Given the description of an element on the screen output the (x, y) to click on. 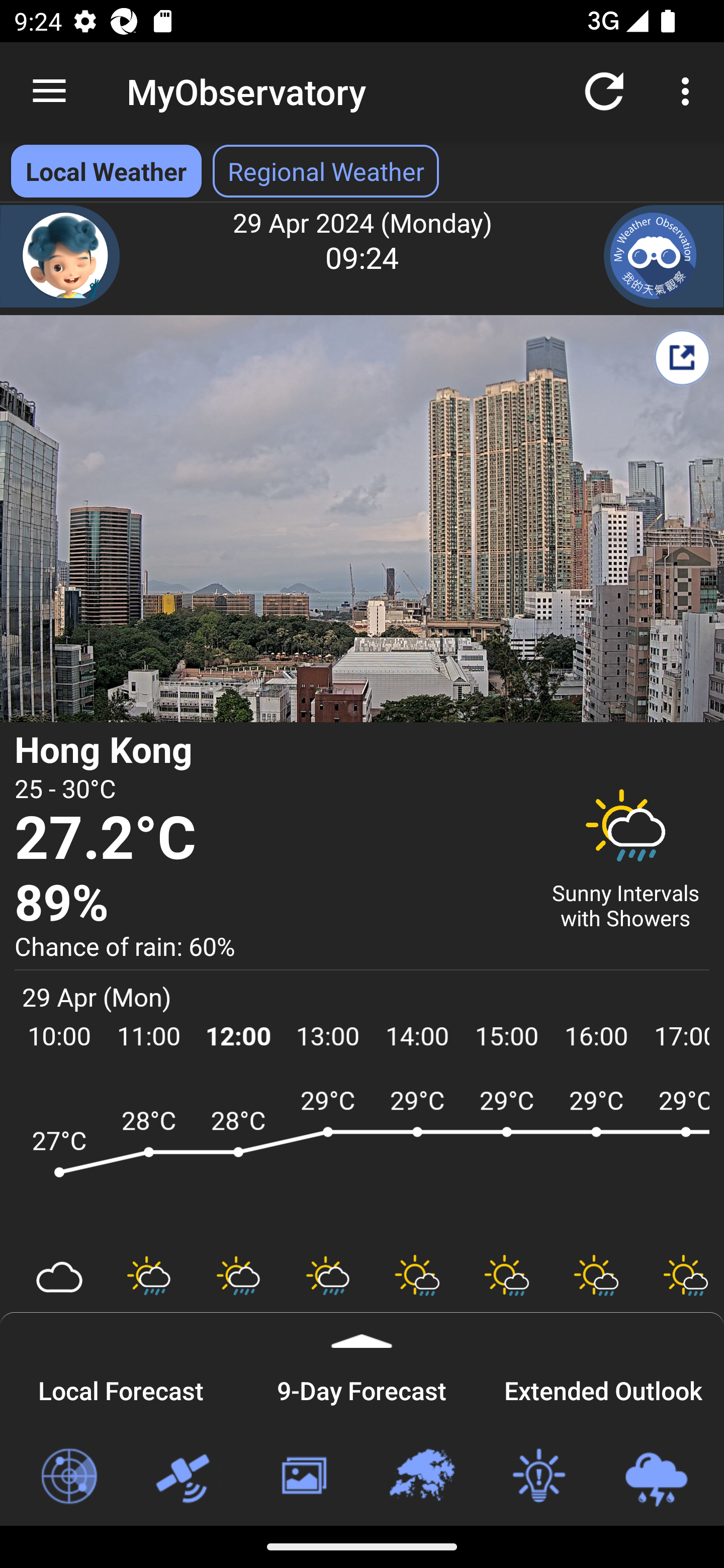
Navigate up (49, 91)
Refresh (604, 90)
More options (688, 90)
Local Weather Local Weather selected (105, 170)
Regional Weather Select Regional Weather (325, 170)
Chatbot (60, 256)
My Weather Observation (663, 256)
Share My Weather Report (681, 357)
27.2°C Temperature
27.2 degree Celsius (270, 839)
89% Relative Humidity
89 percent (270, 903)
ARWF (361, 1160)
Expand (362, 1330)
Local Forecast (120, 1387)
Extended Outlook (603, 1387)
Radar Images (68, 1476)
Satellite Images (185, 1476)
Weather Photos (302, 1476)
Regional Weather (420, 1476)
Weather Tips (537, 1476)
Loc-based Rain & Lightning Forecast (655, 1476)
